Given the description of an element on the screen output the (x, y) to click on. 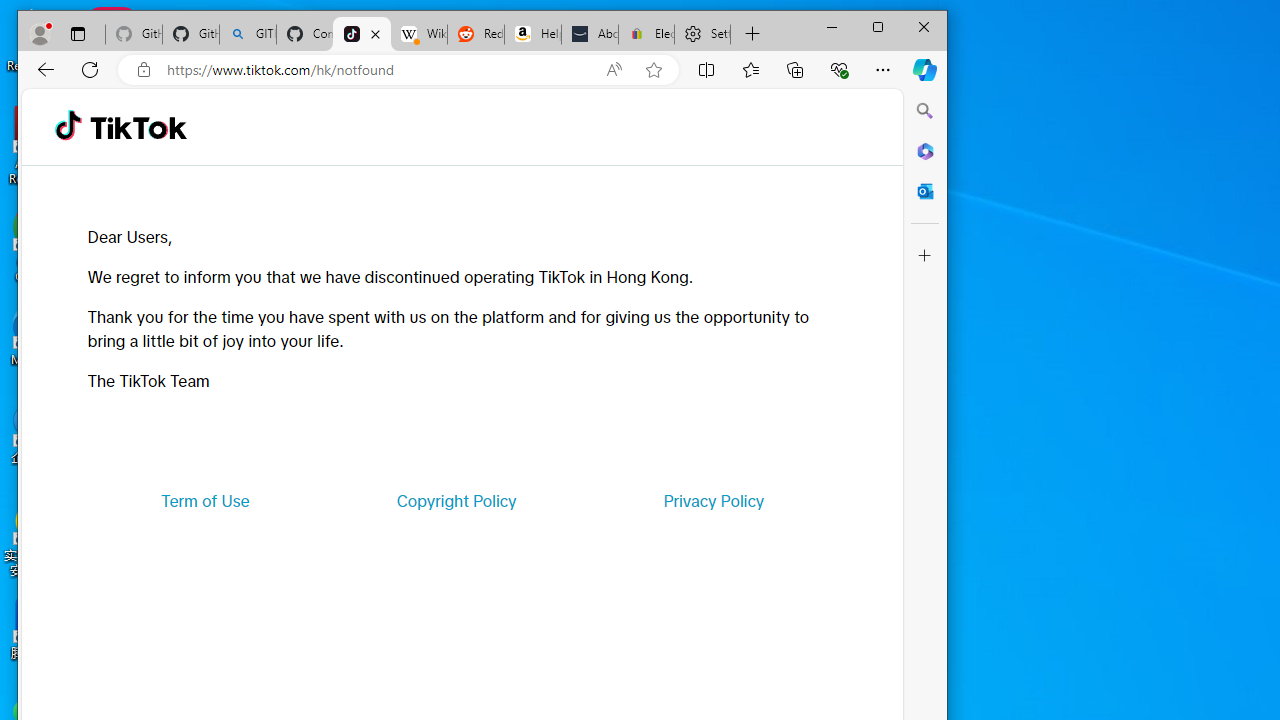
Privacy Policy (713, 500)
Copyright Policy (456, 500)
